Given the description of an element on the screen output the (x, y) to click on. 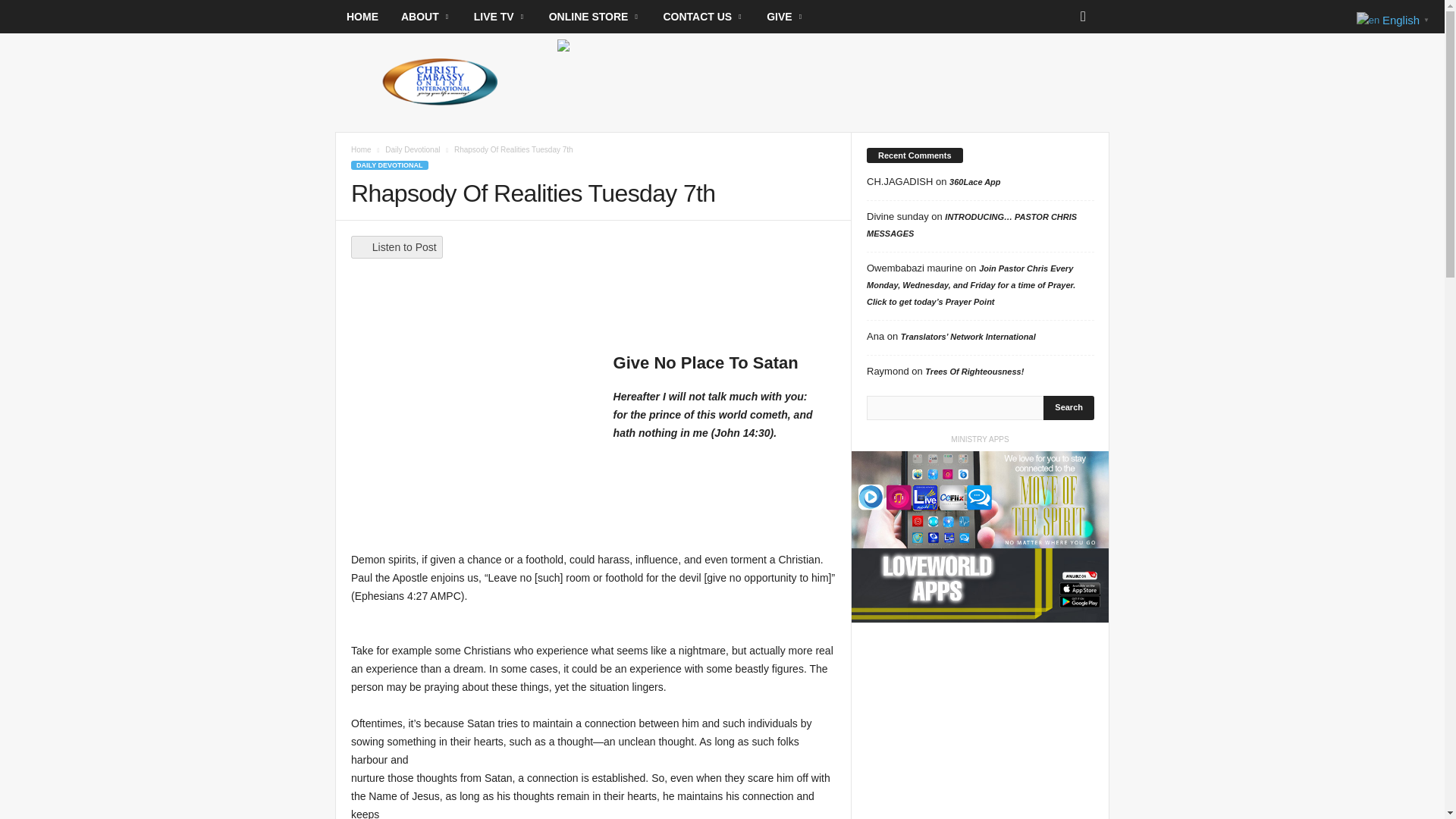
View all posts in Daily Devotional (412, 149)
HOME (362, 16)
Search (1068, 407)
LIVE TV (500, 16)
ABOUT (426, 16)
CONTACT US (702, 16)
ONLINE STORE (594, 16)
